Given the description of an element on the screen output the (x, y) to click on. 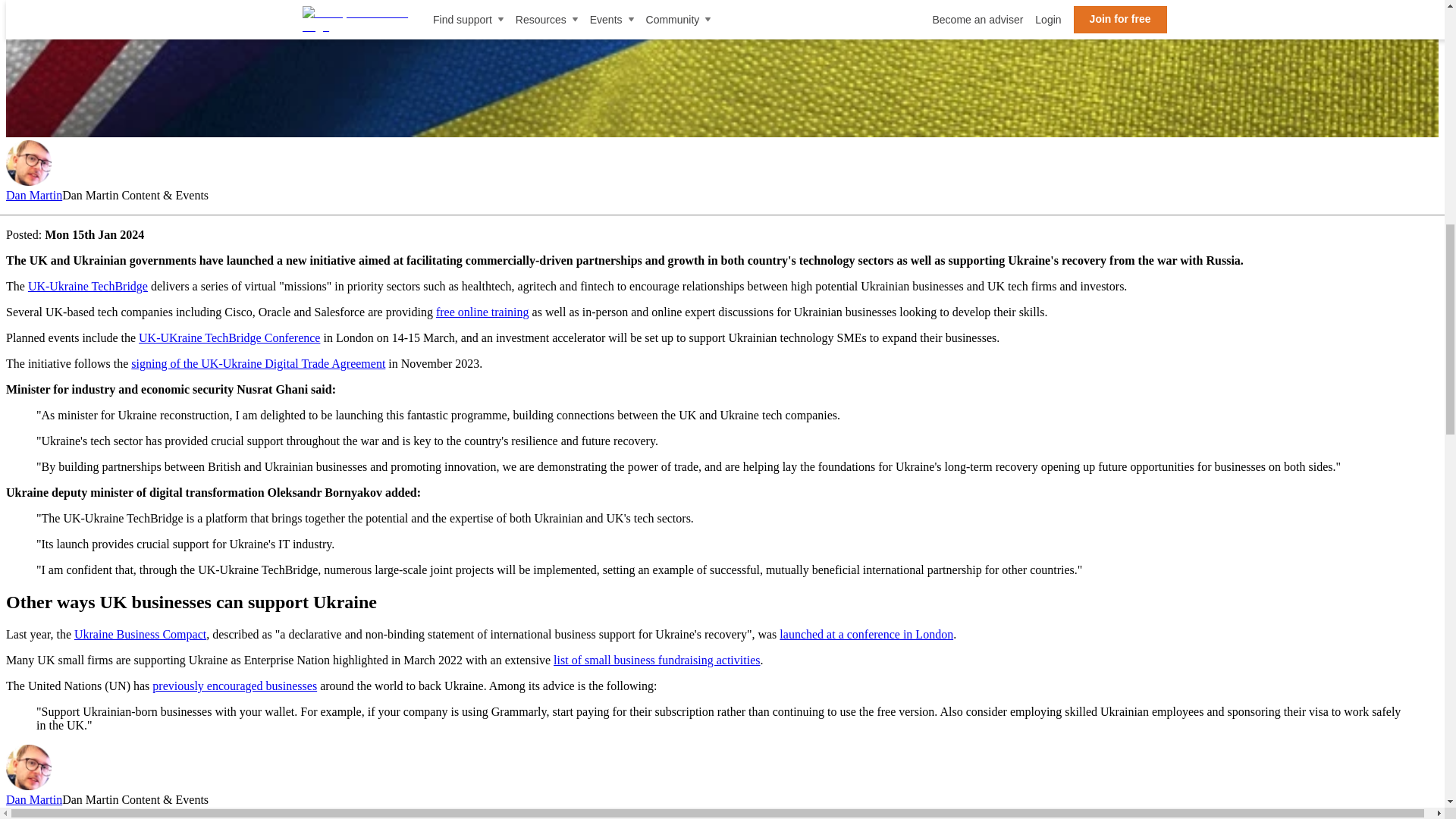
signing of the UK-Ukraine Digital Trade Agreement (258, 363)
UK-UKraine TechBridge Conference (229, 337)
Ukraine Business Compact (140, 634)
UK-Ukraine TechBridge (87, 286)
Dan Martin (33, 195)
Dan Martin (33, 799)
launched at a conference in London (865, 634)
Dan Martin (27, 767)
list of small business fundraising activities (656, 659)
free online training (482, 311)
Dan Martin (27, 162)
previously encouraged businesses (234, 685)
